Given the description of an element on the screen output the (x, y) to click on. 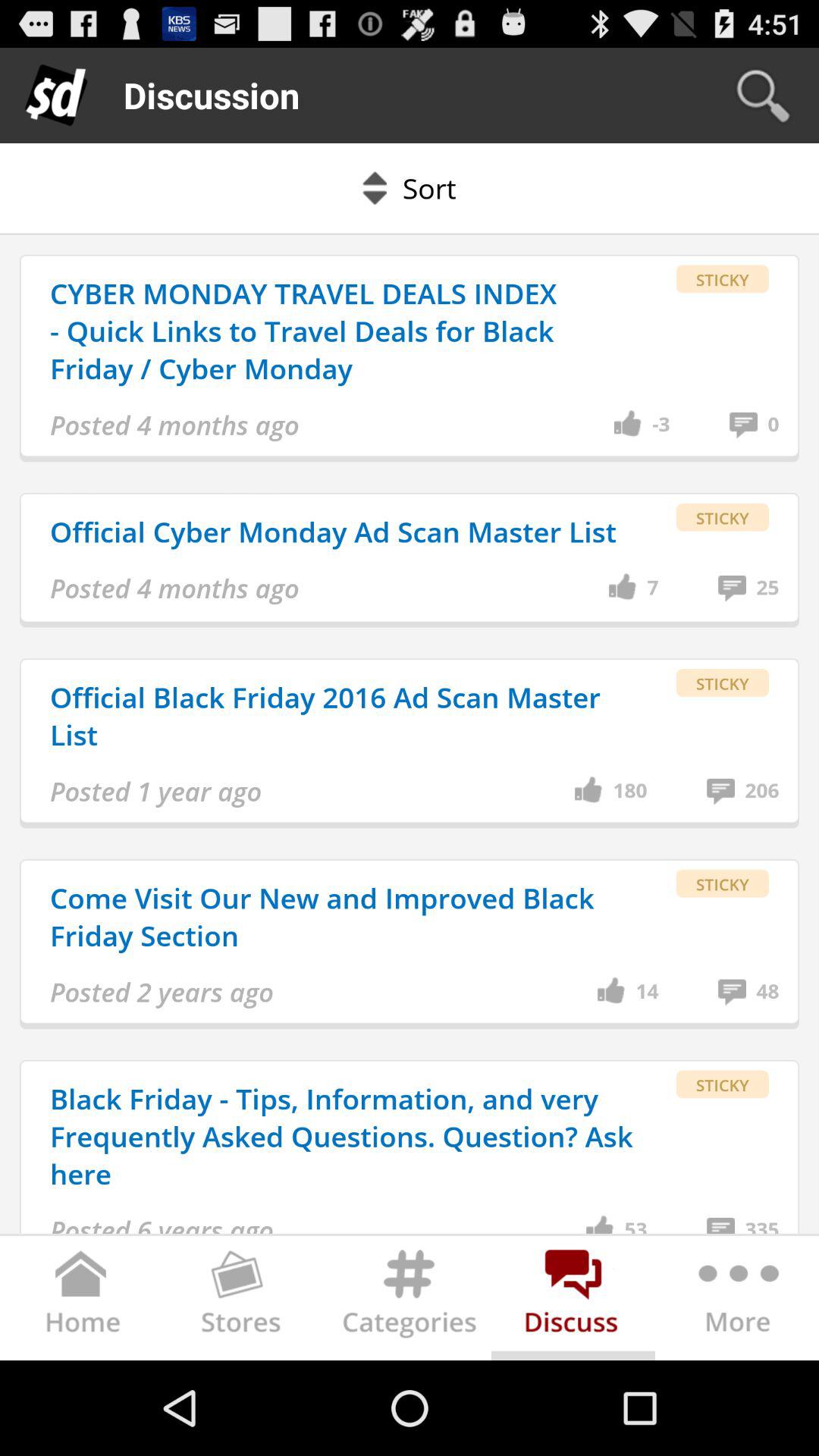
turn on 25 icon (767, 588)
